Given the description of an element on the screen output the (x, y) to click on. 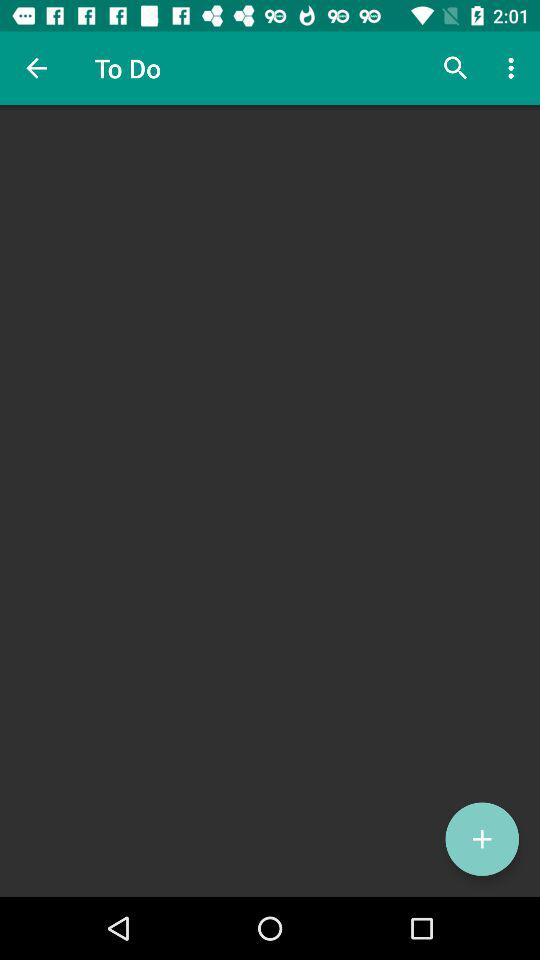
launch item to the left of to do item (36, 68)
